Given the description of an element on the screen output the (x, y) to click on. 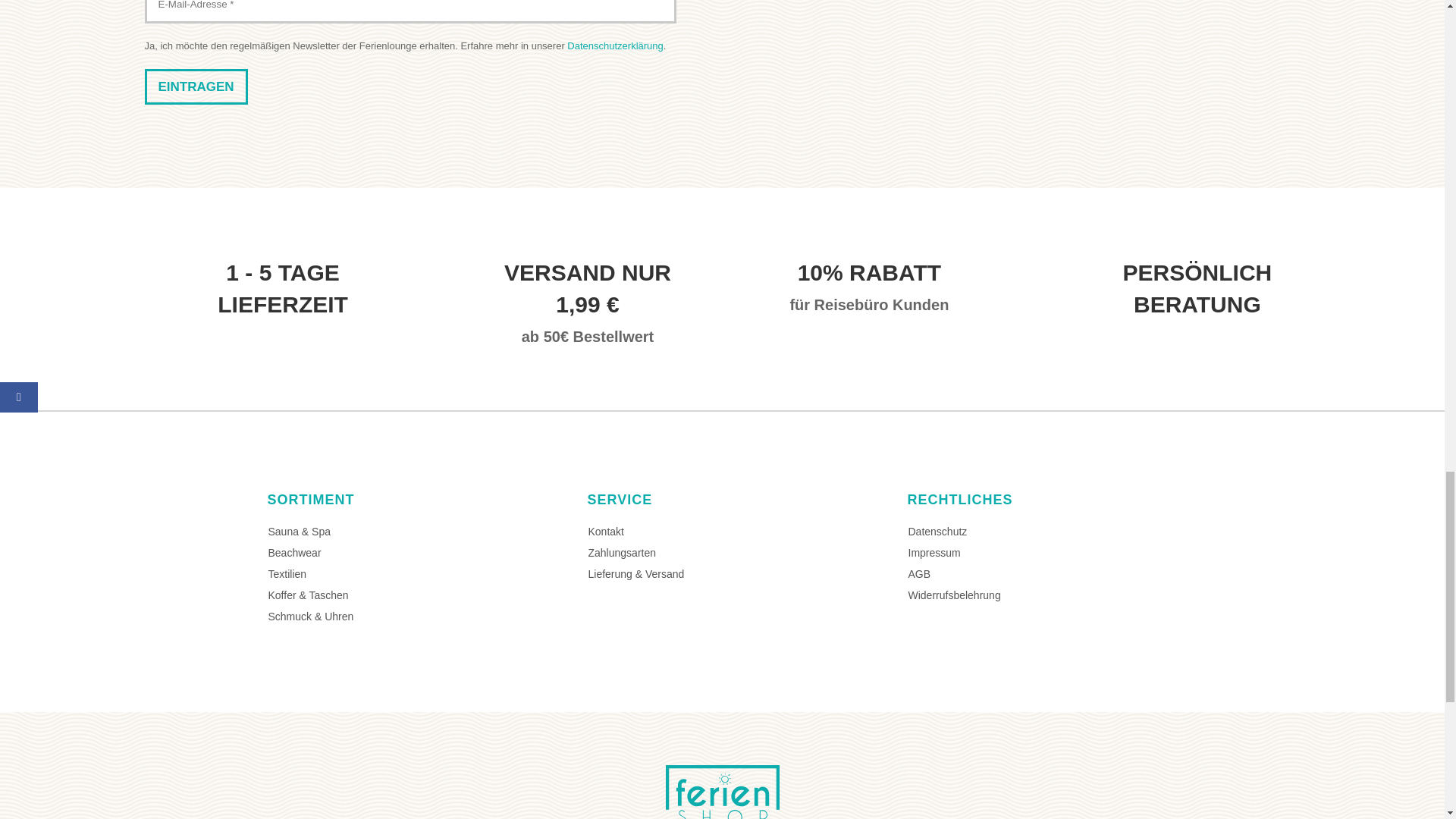
E-Mail-Adresse (409, 11)
ferienshop-logo-dark (721, 791)
Eintragen (195, 86)
